Given the description of an element on the screen output the (x, y) to click on. 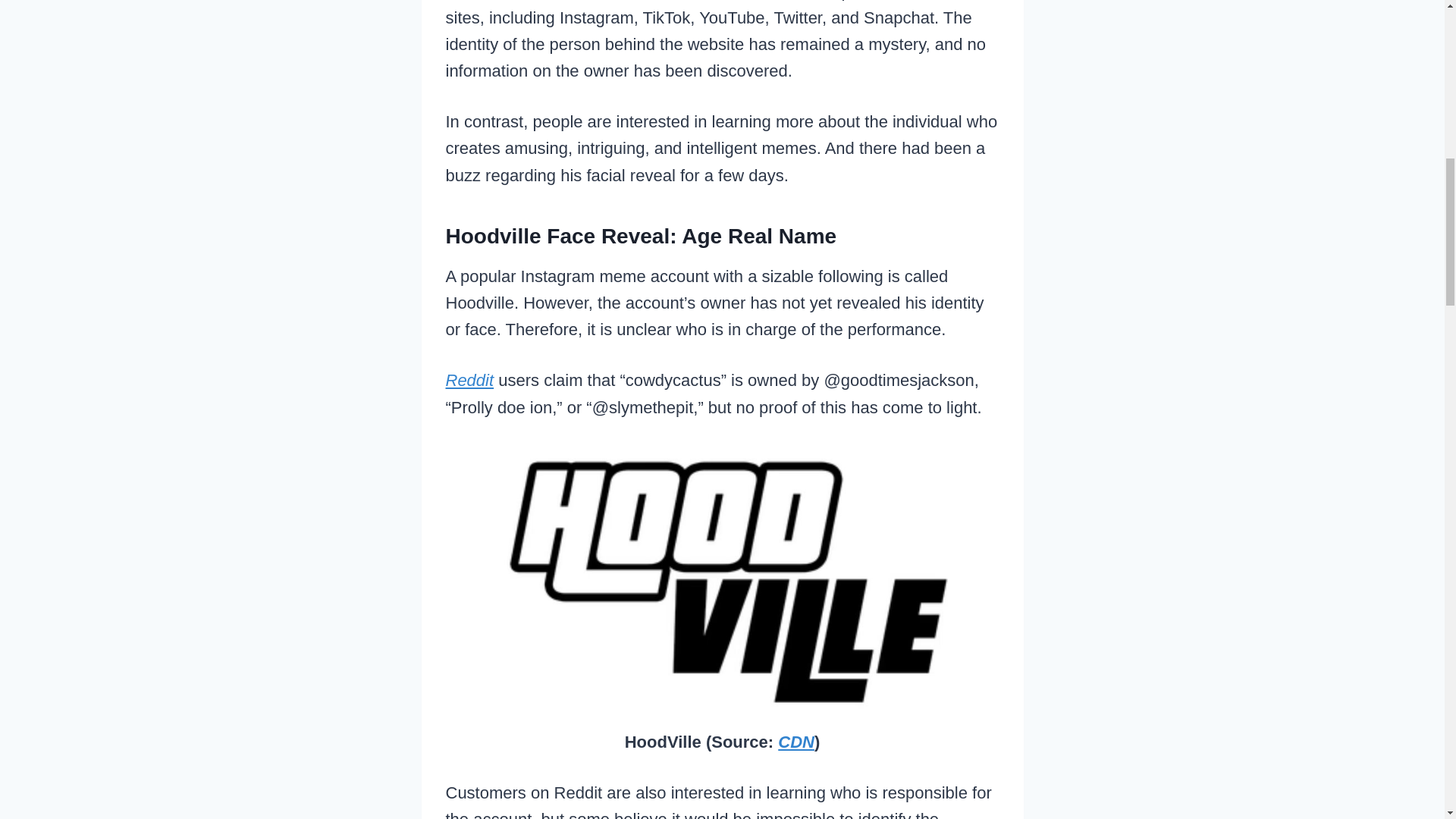
Reddit (470, 380)
CDN (795, 741)
